Given the description of an element on the screen output the (x, y) to click on. 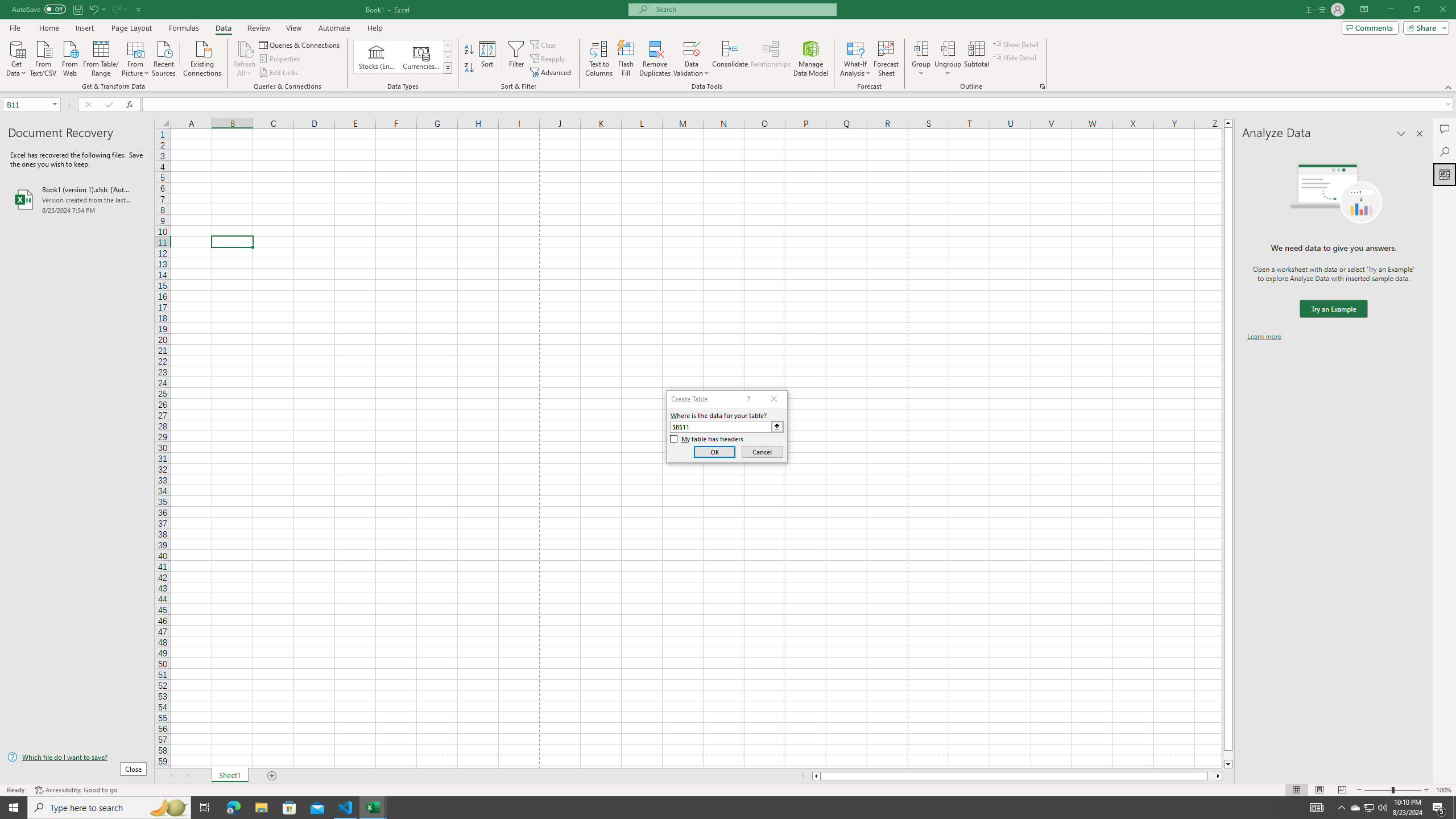
Customize Quick Access Toolbar (139, 9)
What-If Analysis (855, 58)
Clear (544, 44)
Get Data (16, 57)
Analyze Data (1444, 173)
Recent Sources (163, 57)
Zoom Out (1377, 790)
Stocks (English) (375, 56)
Save (77, 9)
Manage Data Model (810, 58)
Refresh All (244, 48)
Normal (1296, 790)
Reapply (548, 58)
Group... (921, 58)
Refresh All (244, 58)
